Given the description of an element on the screen output the (x, y) to click on. 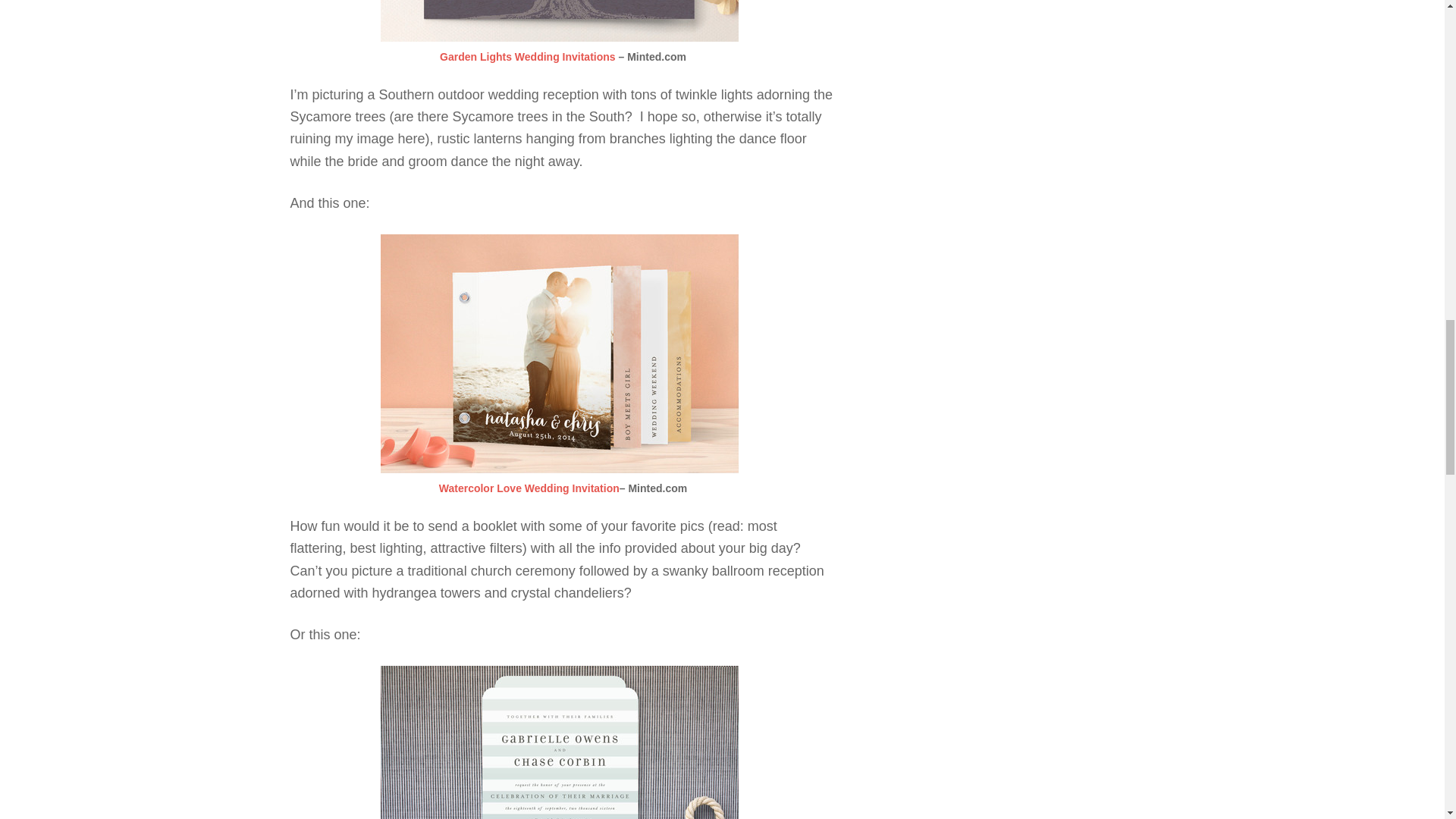
Watercolor Love Wedding Invitation Minted.com (529, 488)
Garden Lights Wedding Invitations (527, 56)
Garden Lights Wedding Invitation Minted.com (527, 56)
Watercolor Love Wedding Invitation (529, 488)
